Given the description of an element on the screen output the (x, y) to click on. 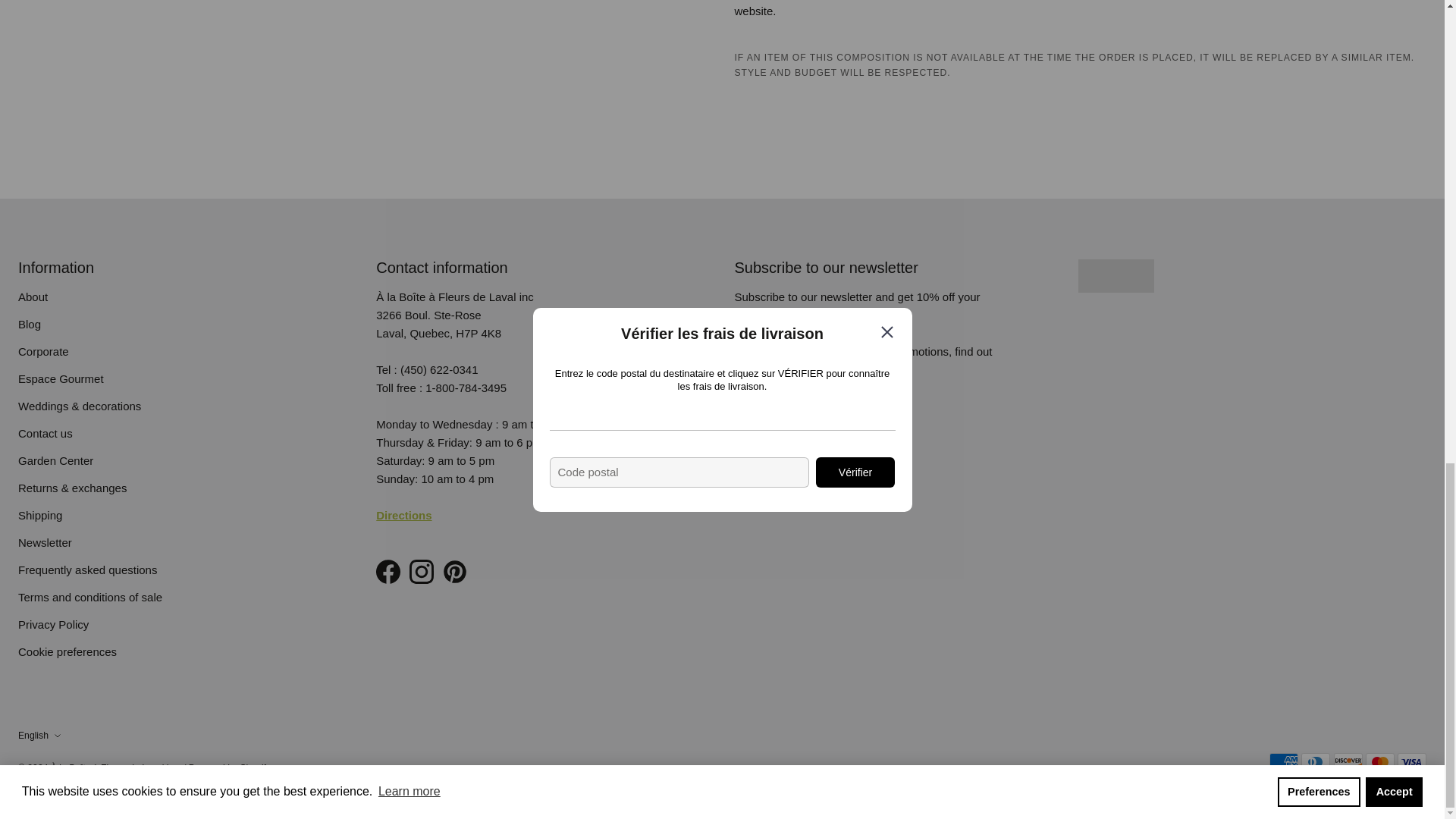
Visa (1411, 761)
American Express (1283, 761)
Mastercard (1379, 761)
Diners Club (1315, 761)
Discover (1347, 761)
